Given the description of an element on the screen output the (x, y) to click on. 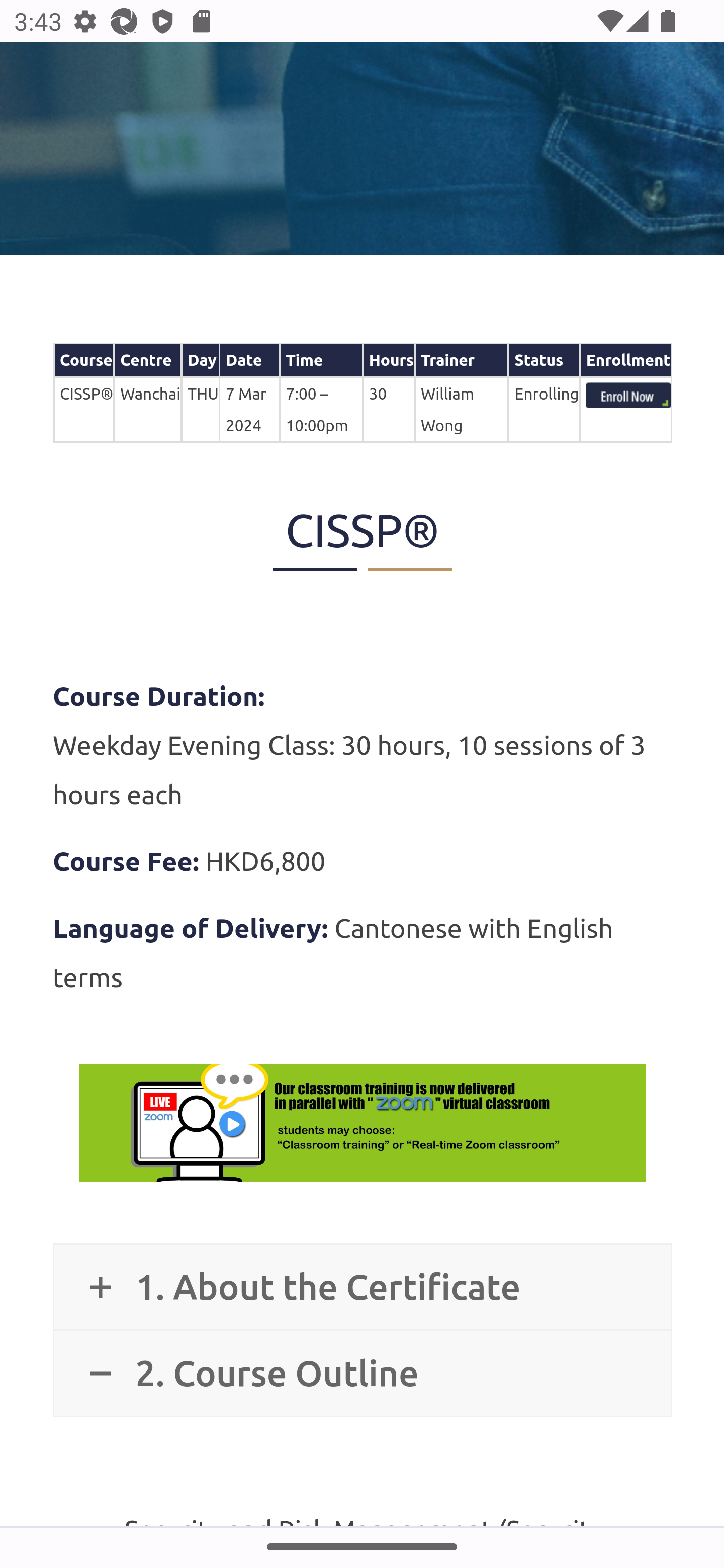
index (627, 397)
